Given the description of an element on the screen output the (x, y) to click on. 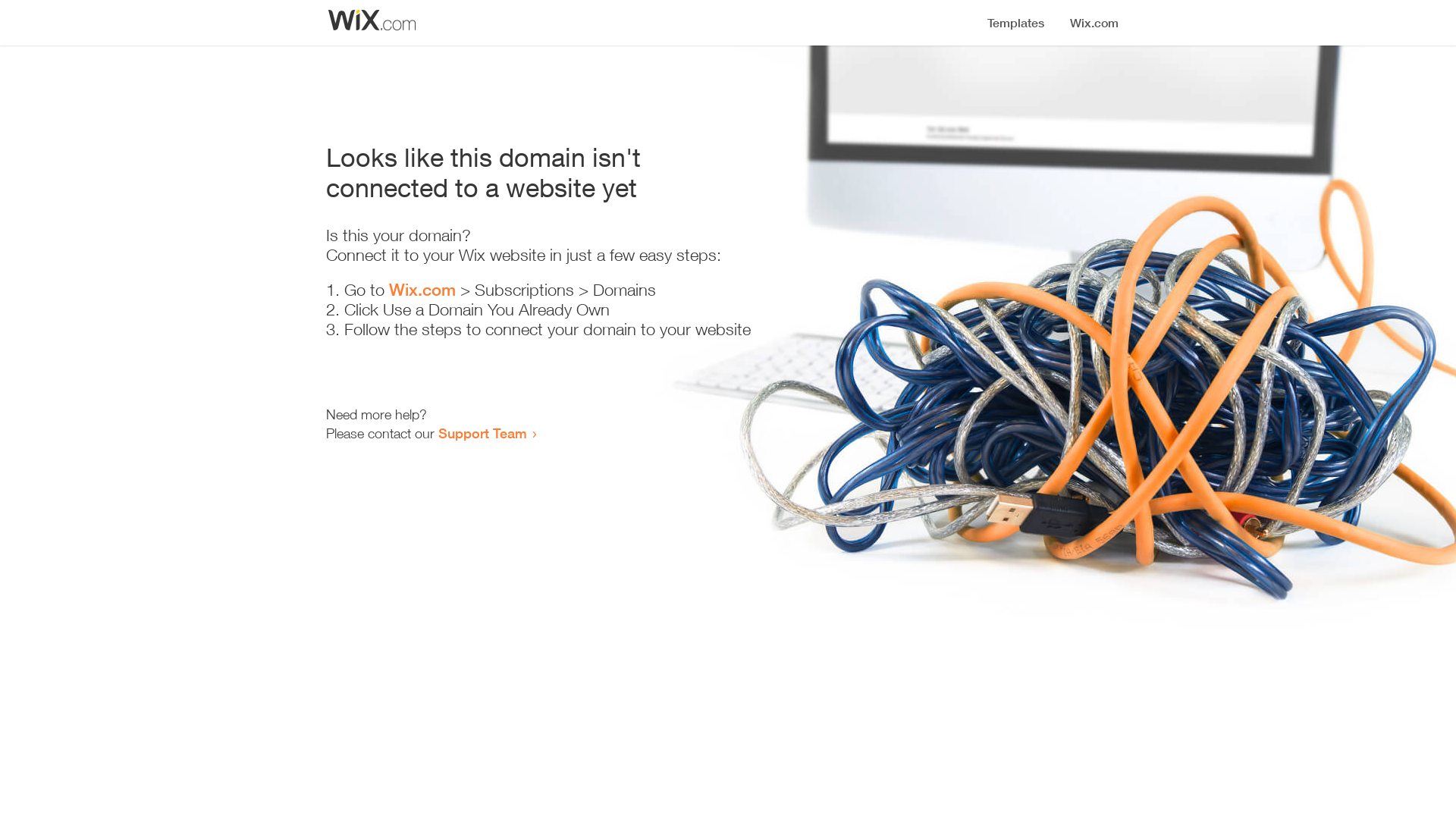
Wix.com Element type: text (422, 289)
Support Team Element type: text (482, 432)
